Given the description of an element on the screen output the (x, y) to click on. 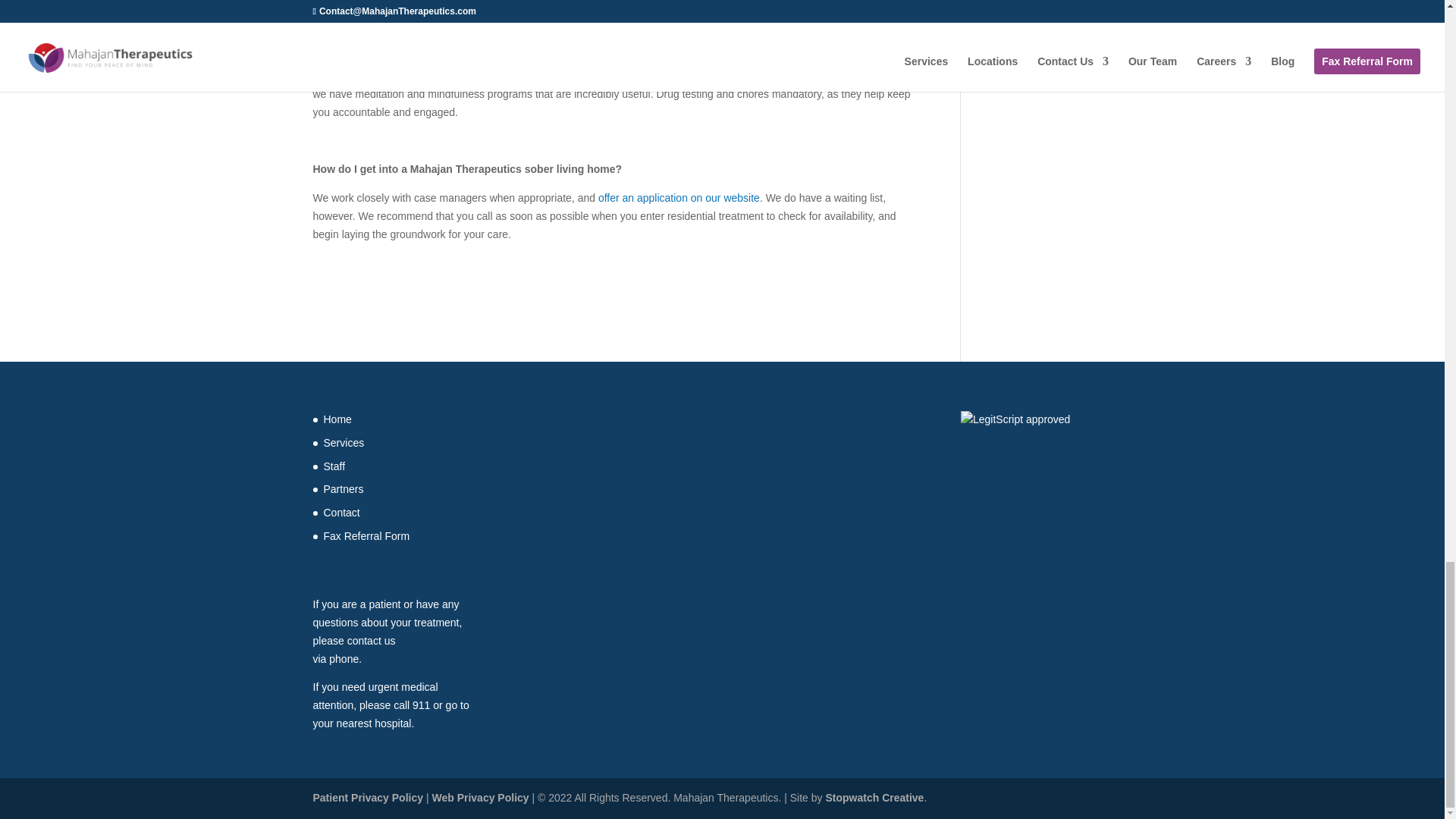
offer an application on our website (679, 197)
